Given the description of an element on the screen output the (x, y) to click on. 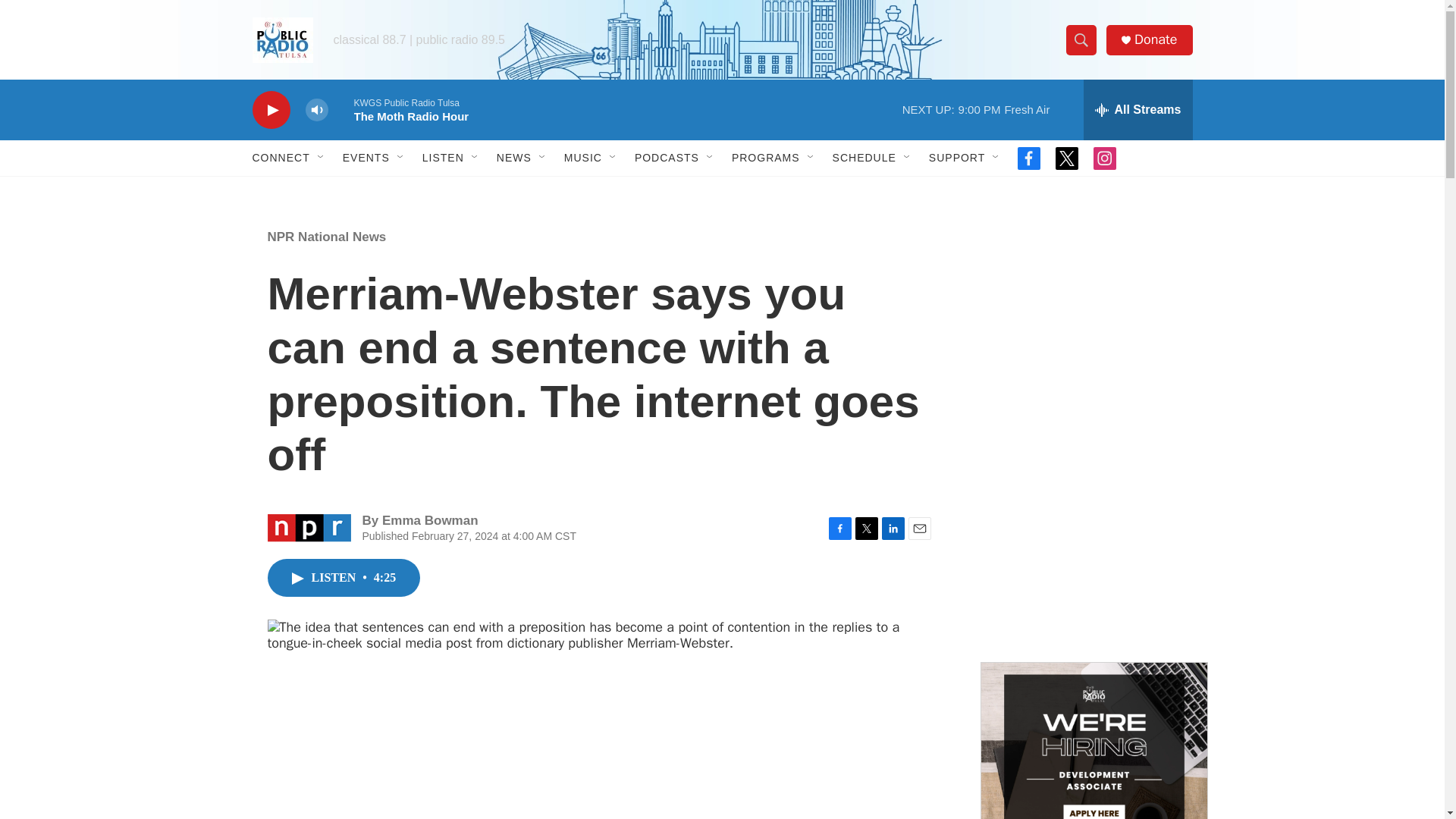
3rd party ad content (1093, 316)
3rd party ad content (1093, 536)
